Given the description of an element on the screen output the (x, y) to click on. 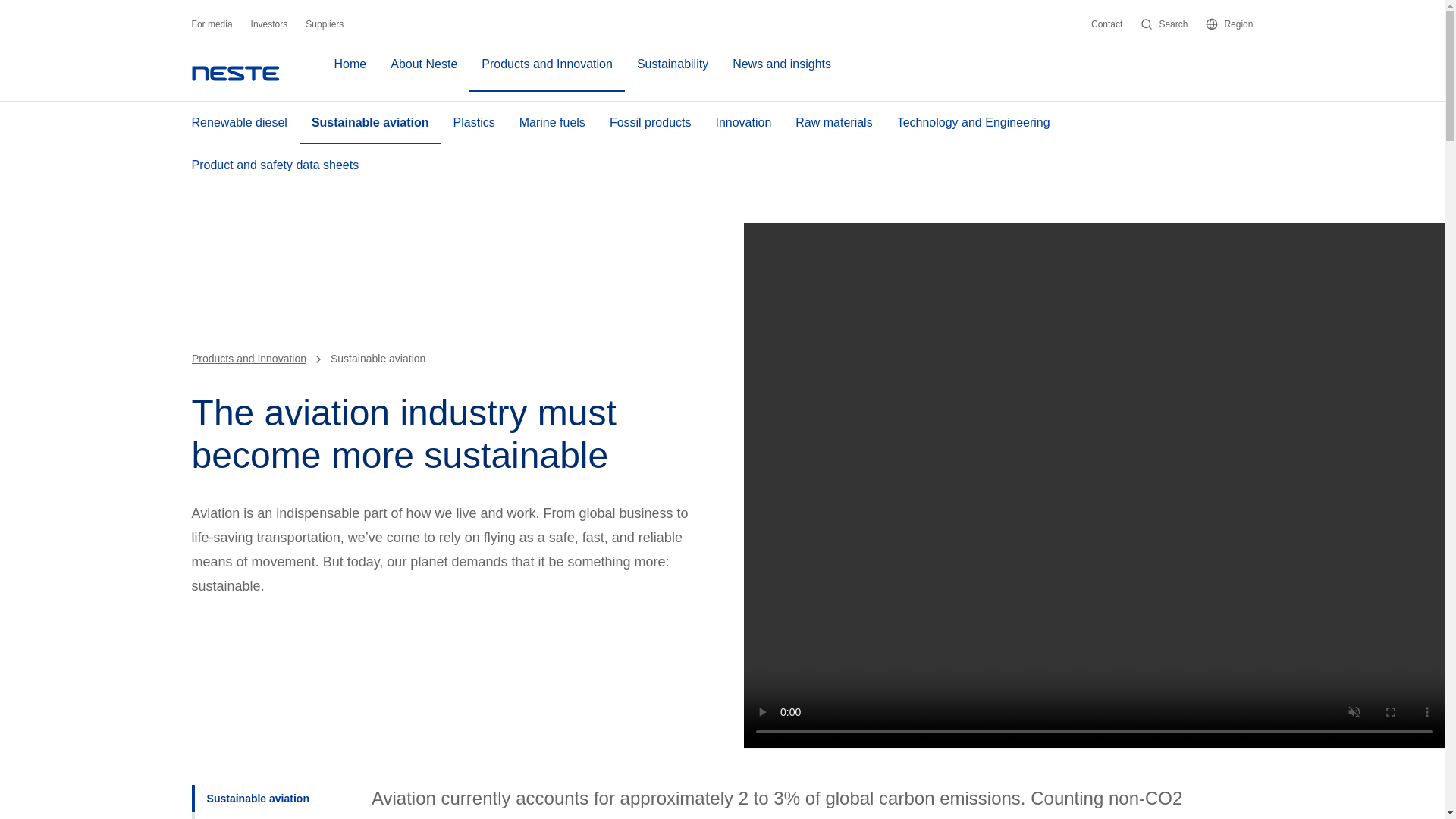
Region (1228, 24)
For media (212, 24)
Products and Innovation (248, 358)
Suppliers (324, 24)
Contact (1106, 24)
About Neste (423, 73)
Innovation (743, 122)
Sustainable aviation (272, 798)
Renewable diesel (239, 122)
Products and Innovation (546, 73)
News and insights (781, 73)
Sustainability (672, 73)
Raw materials (833, 122)
Sustainable aviation (370, 122)
Product and safety data sheets (275, 165)
